Given the description of an element on the screen output the (x, y) to click on. 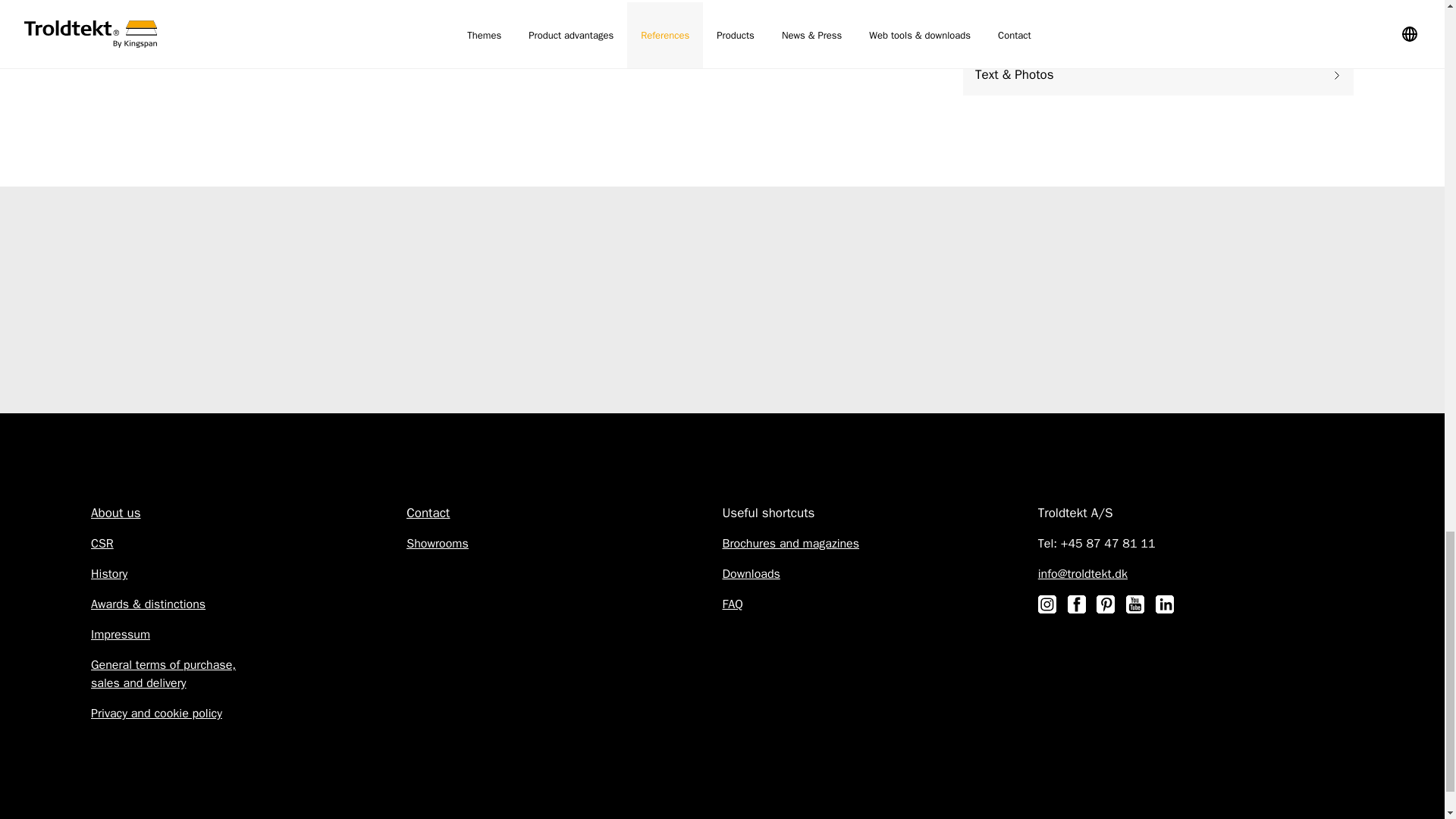
Impressum (119, 634)
Download materialer (750, 573)
Priser og udmaerkelser (147, 604)
Brochurer (790, 543)
Showrooms (436, 543)
Historie (109, 573)
Data og cookiepolitik (156, 713)
Om os (115, 512)
Salgs- og leveringsbetingelser (162, 674)
Kontakt (427, 513)
Frequently asked questions (732, 604)
CSR (101, 543)
